Given the description of an element on the screen output the (x, y) to click on. 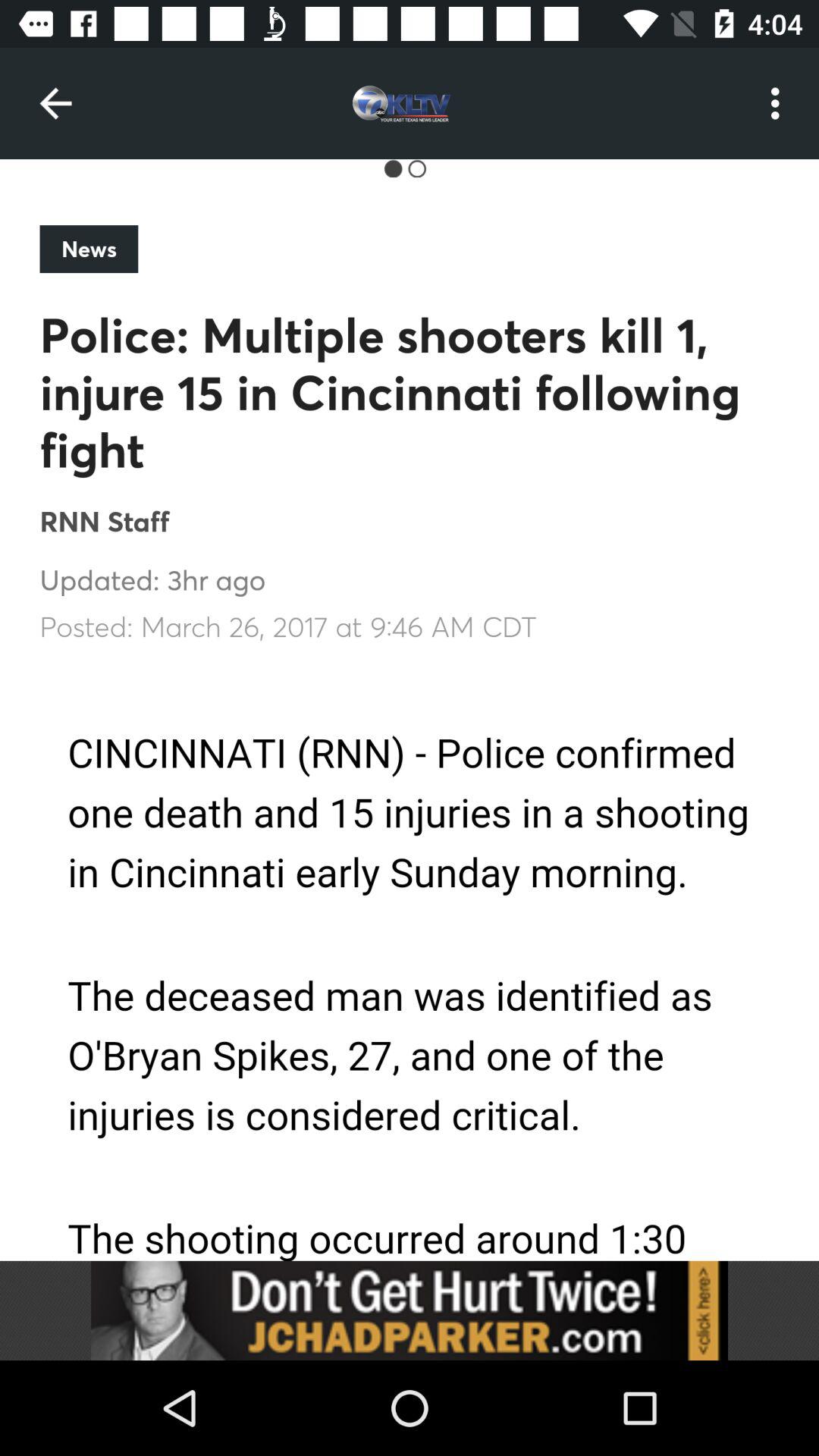
link button (409, 1310)
